Given the description of an element on the screen output the (x, y) to click on. 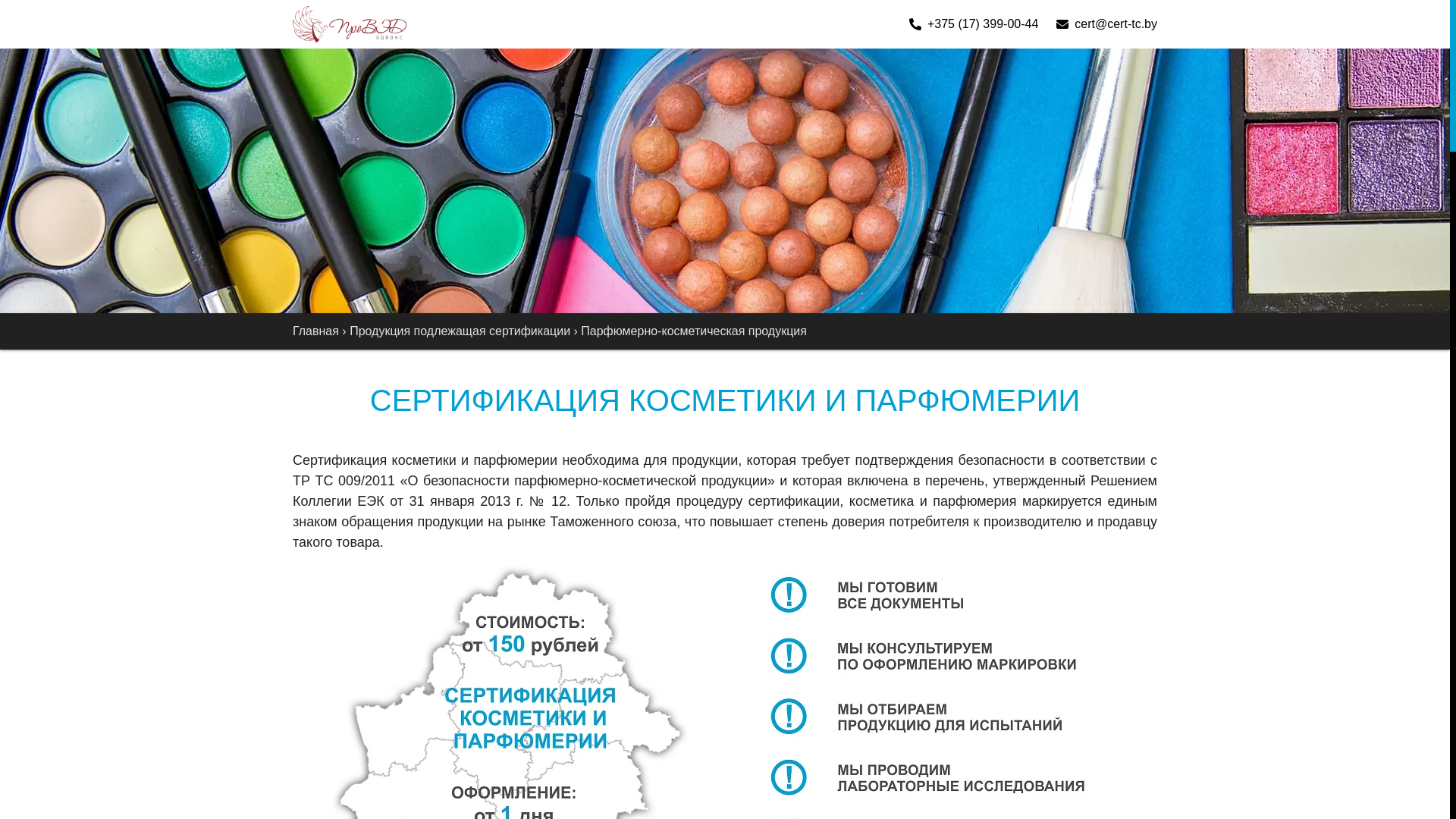
+375 (17) 399-00-44 Element type: text (973, 24)
cert@cert-tc.by Element type: text (1106, 24)
